Given the description of an element on the screen output the (x, y) to click on. 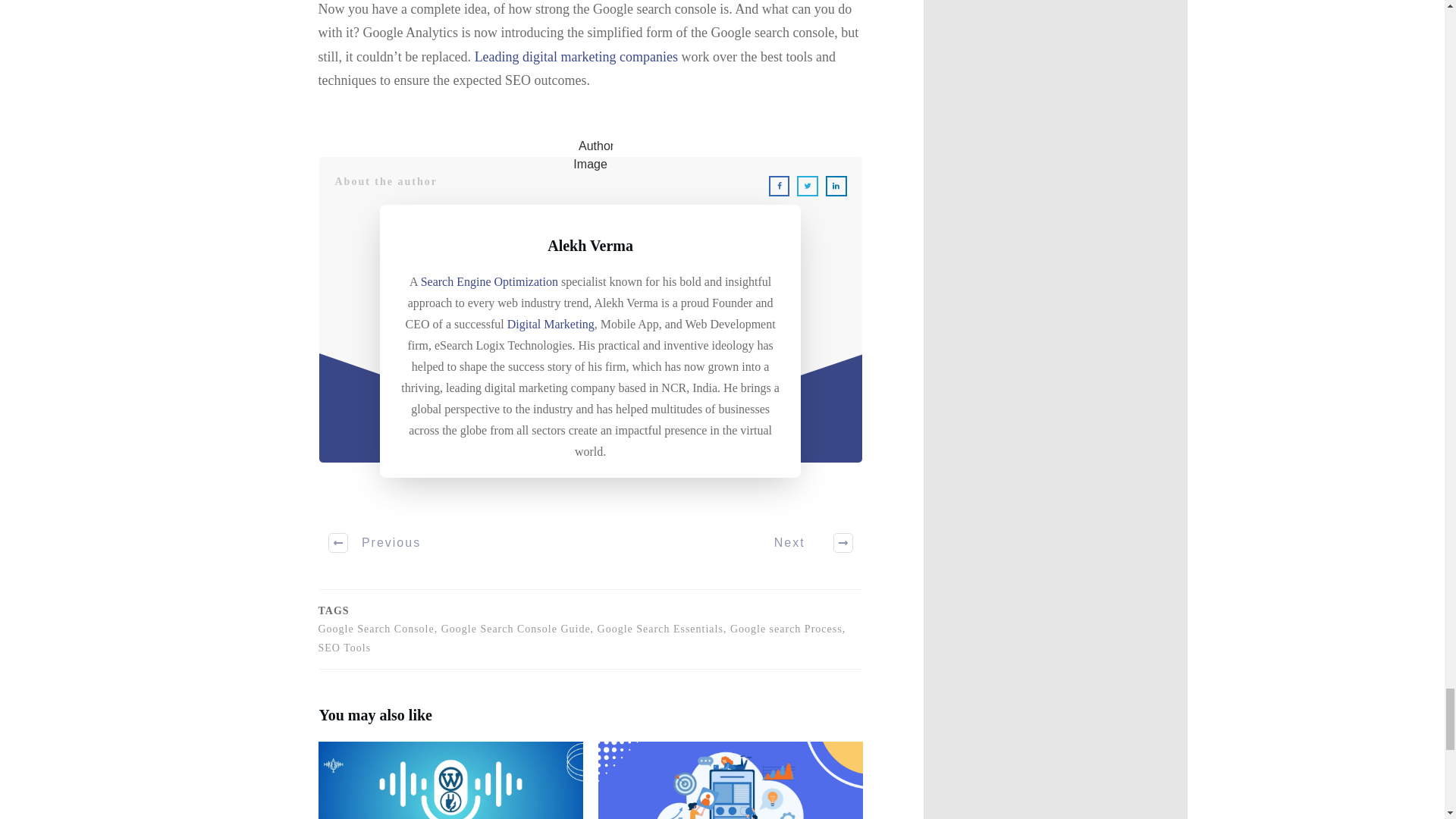
Search Engine Optimization (488, 281)
Leading digital marketing companies (576, 56)
Previous (375, 542)
Digital Marketing (550, 323)
How to Scale an App Successfully and Win Big? (730, 780)
Next (804, 542)
